Given the description of an element on the screen output the (x, y) to click on. 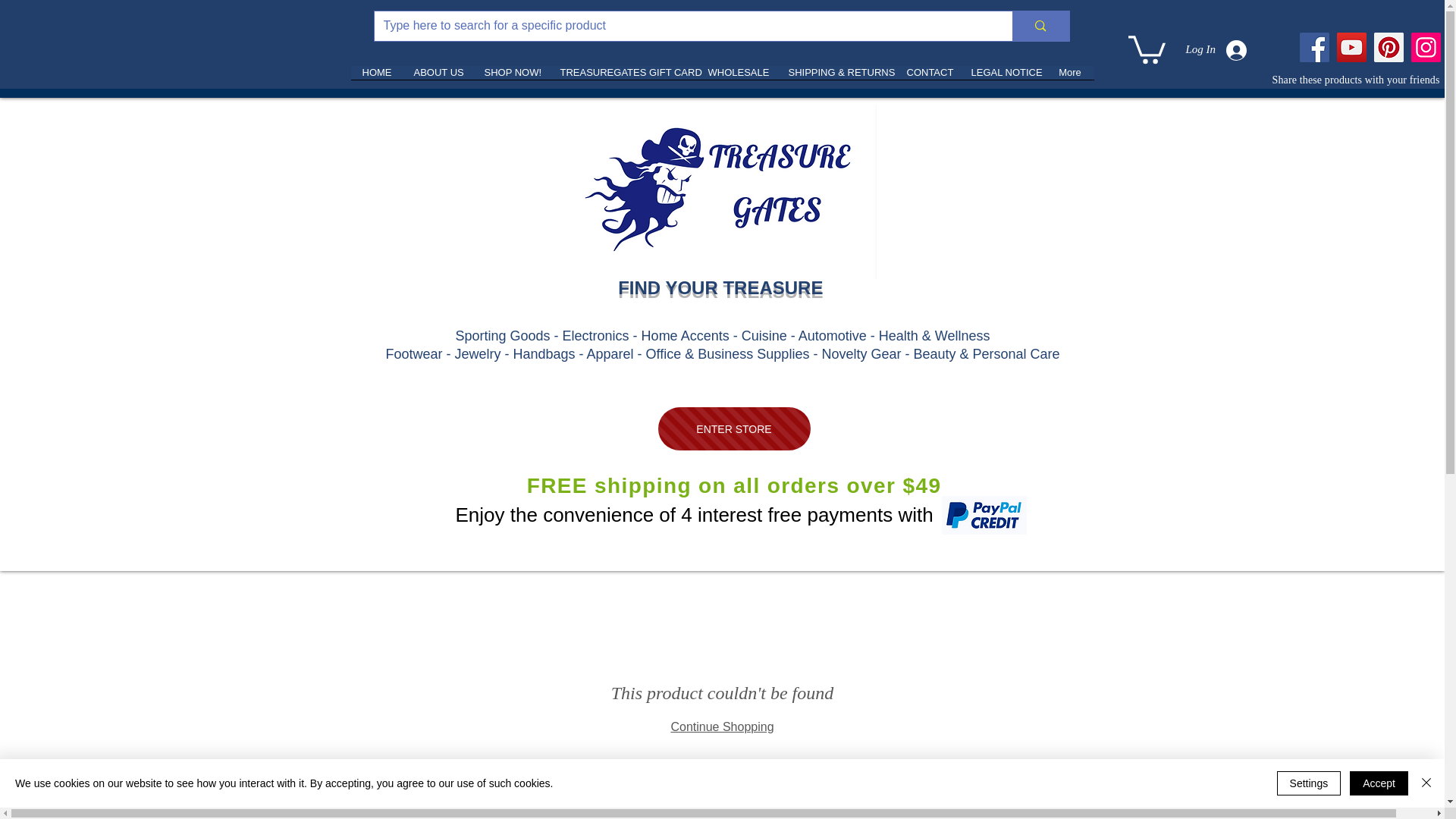
Log In (1215, 49)
HOME (375, 77)
Settings (1308, 783)
ABOUT US (436, 77)
WHOLESALE (735, 77)
CONTACT (927, 77)
TREASUREGATES GIFT CARD (622, 77)
Continue Shopping (721, 726)
ENTER STORE (734, 428)
LEGAL NOTICE (1002, 77)
